Given the description of an element on the screen output the (x, y) to click on. 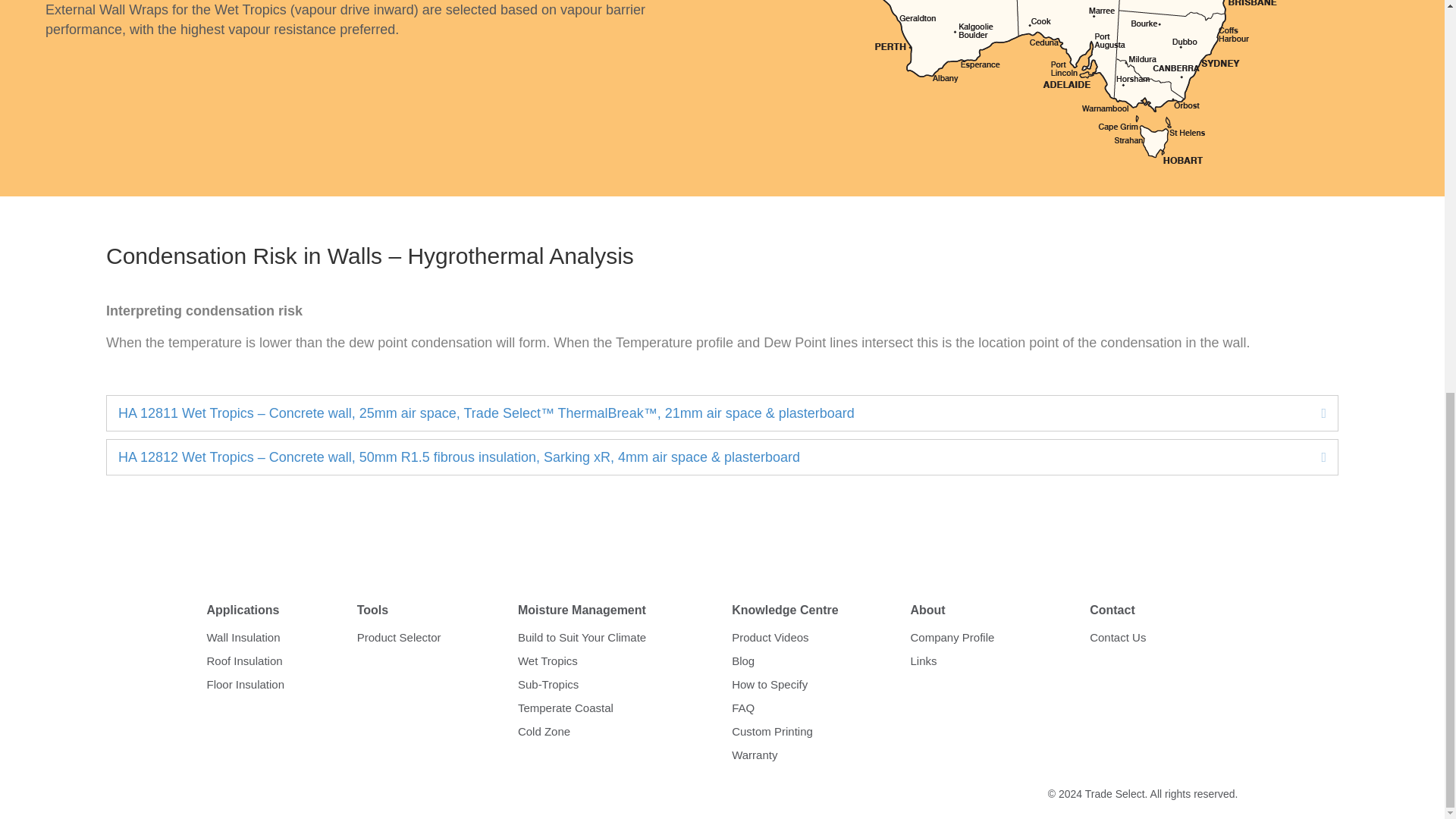
WET-TROPICS-MAP-LRG (1075, 83)
